Given the description of an element on the screen output the (x, y) to click on. 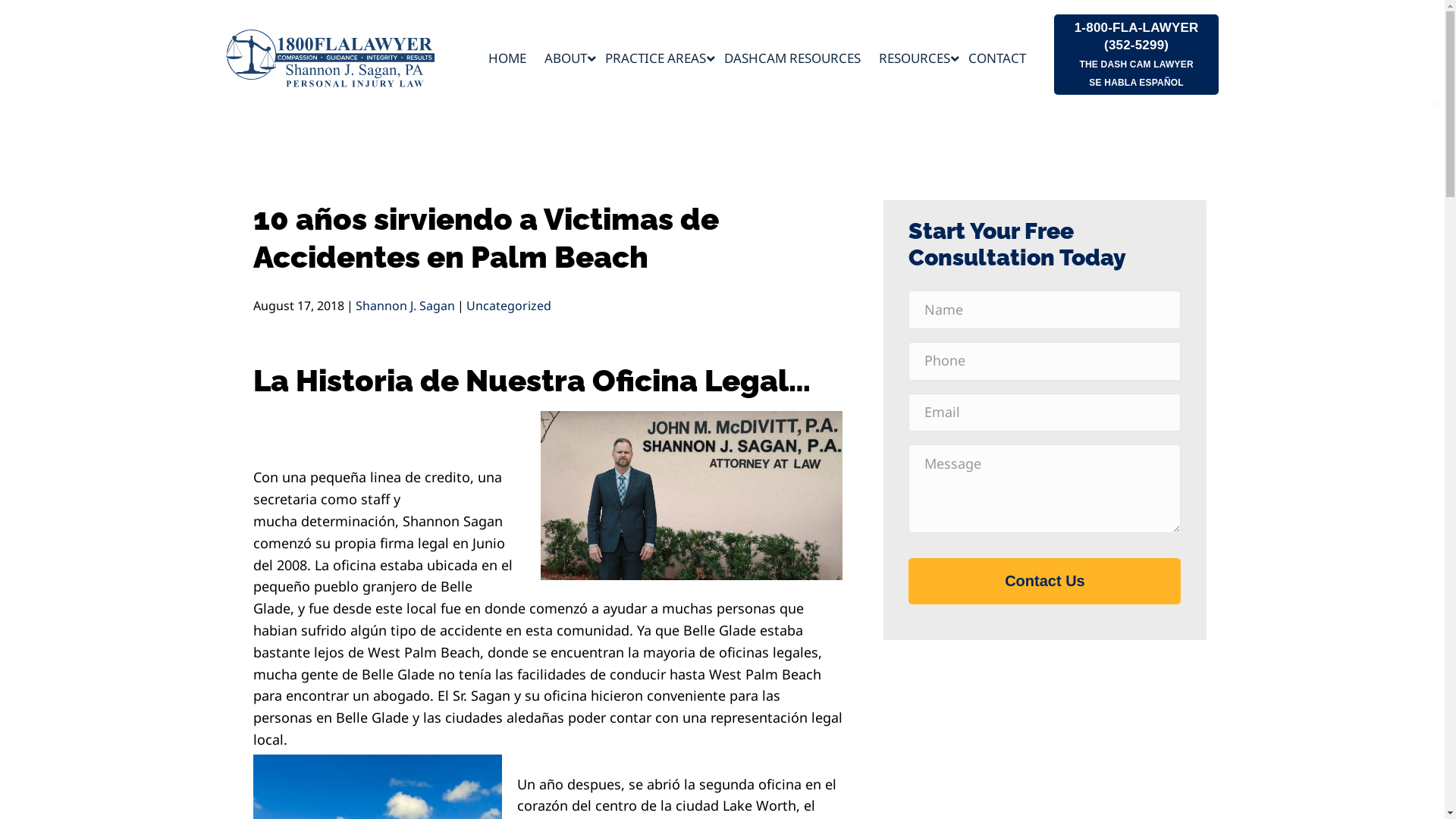
Contact Us Element type: text (1044, 580)
RESOURCES Element type: text (914, 57)
HOME Element type: text (507, 57)
DASHCAM RESOURCES Element type: text (792, 57)
Uncategorized Element type: text (507, 305)
ABOUT Element type: text (565, 57)
PRACTICE AREAS Element type: text (655, 57)
CONTACT Element type: text (997, 57)
Shannon J. Sagan Element type: text (404, 305)
